Given the description of an element on the screen output the (x, y) to click on. 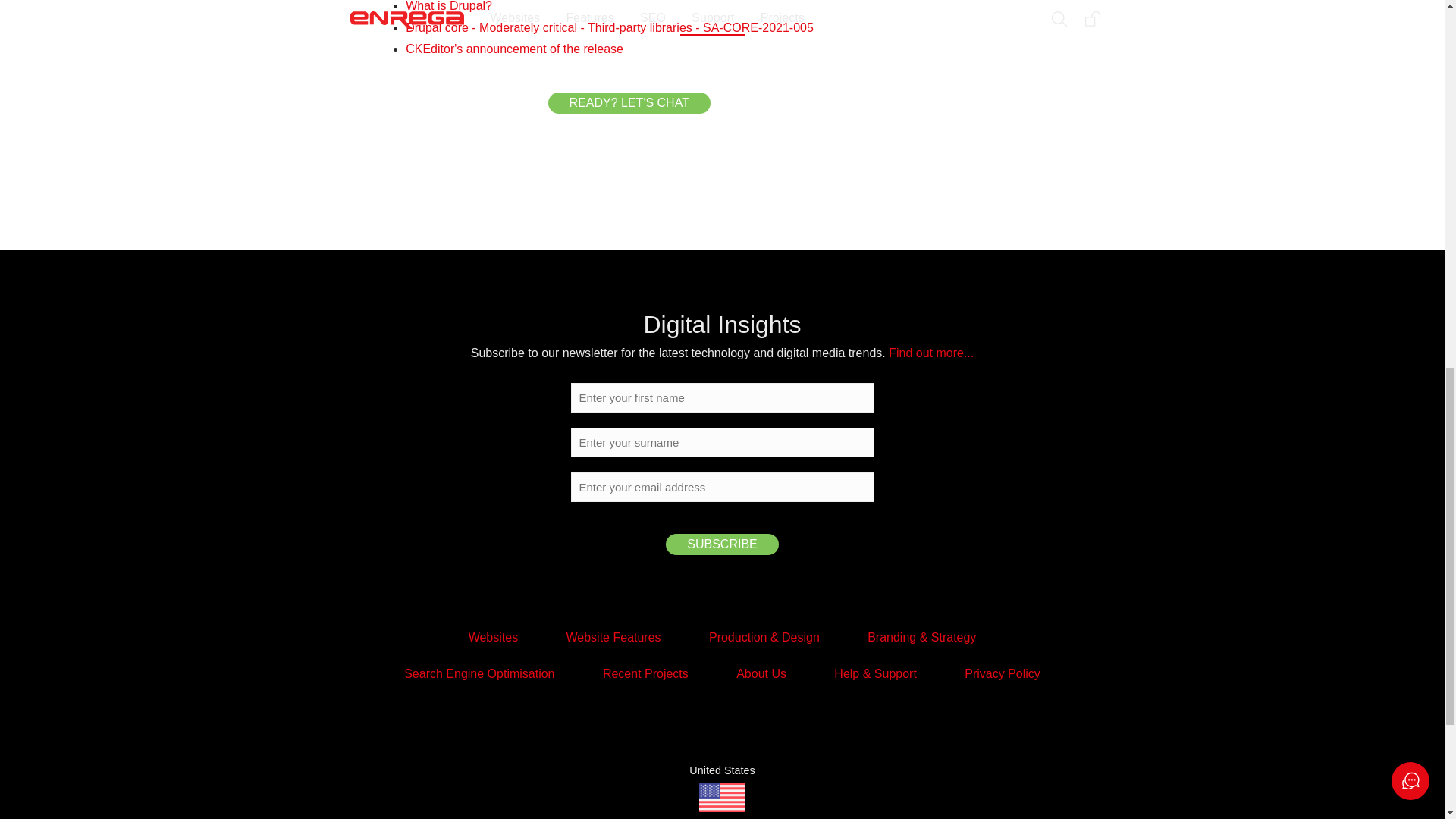
READY? LET'S CHAT (629, 102)
What is Drupal? (449, 6)
CKEditor's announcement of the release (514, 48)
Find out more about the security update for Drupal (609, 27)
Find out more about the security fix for CKEditor 4 (514, 48)
Subscribe (721, 544)
Find out more about Drupal (449, 6)
